Given the description of an element on the screen output the (x, y) to click on. 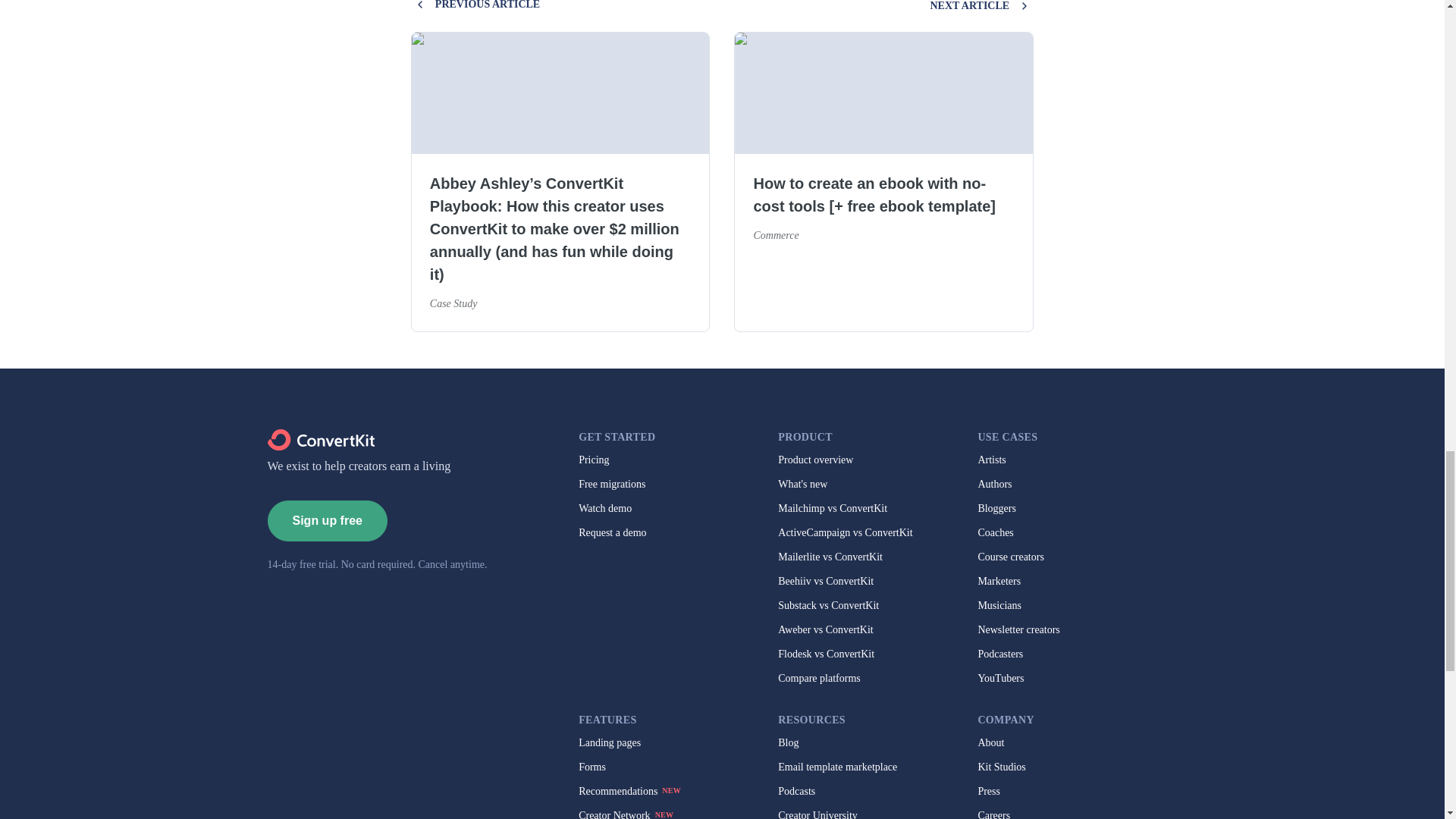
Request a demo (612, 532)
Sign up free (326, 520)
Read article (883, 351)
Free migrations (611, 484)
Pricing (593, 460)
NEXT ARTICLE (981, 7)
Artists (991, 460)
Authors (993, 484)
Bloggers (996, 508)
Read article (560, 351)
